Given the description of an element on the screen output the (x, y) to click on. 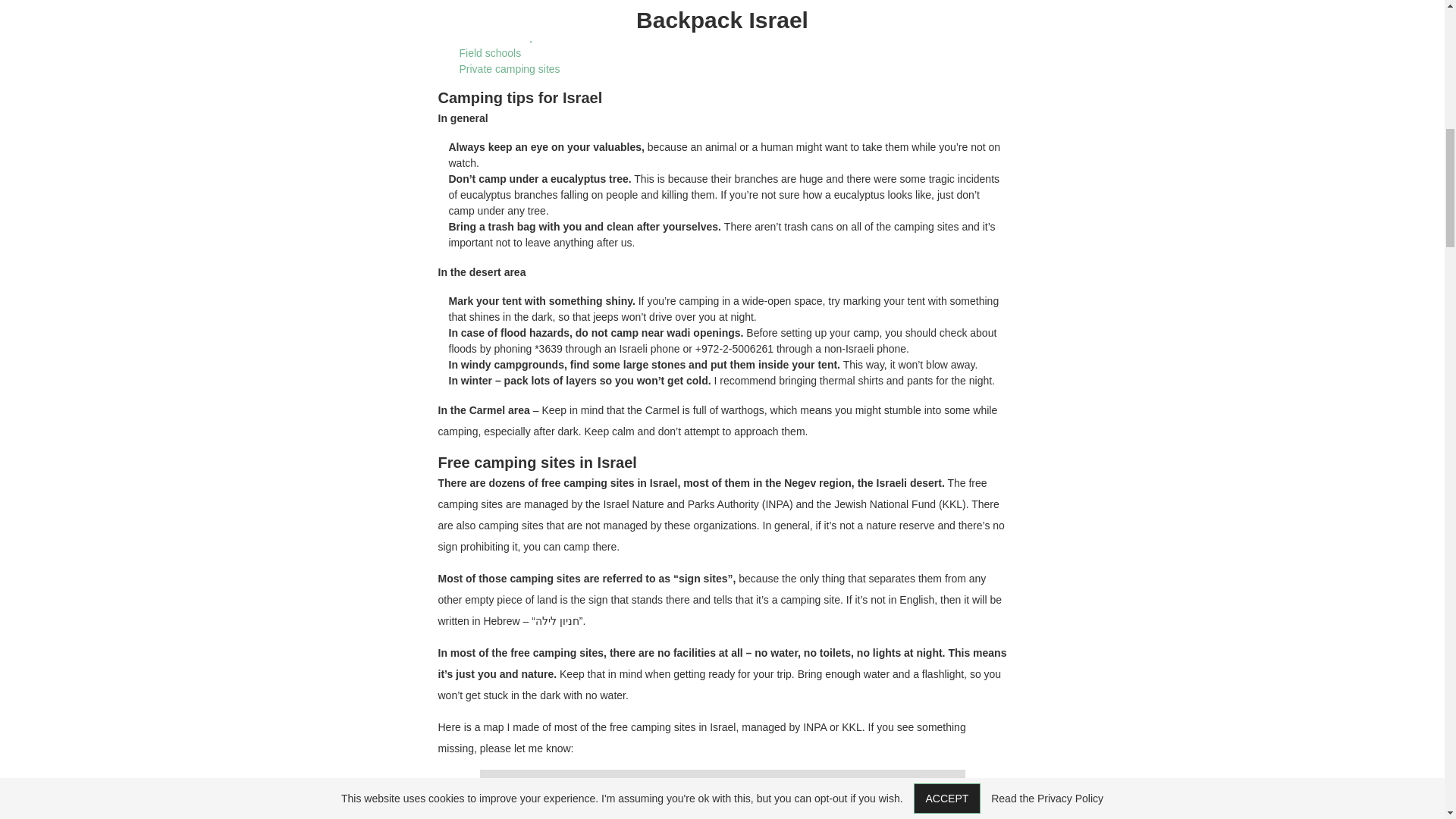
Camping sites with a camping fee in Israel (547, 21)
Paid INPA campsites (508, 37)
Camping sites with a camping fee in Israel (547, 21)
Private camping sites (510, 69)
Private camping sites (510, 69)
Field schools (490, 52)
Field schools (490, 52)
Paid INPA campsites (508, 37)
